Given the description of an element on the screen output the (x, y) to click on. 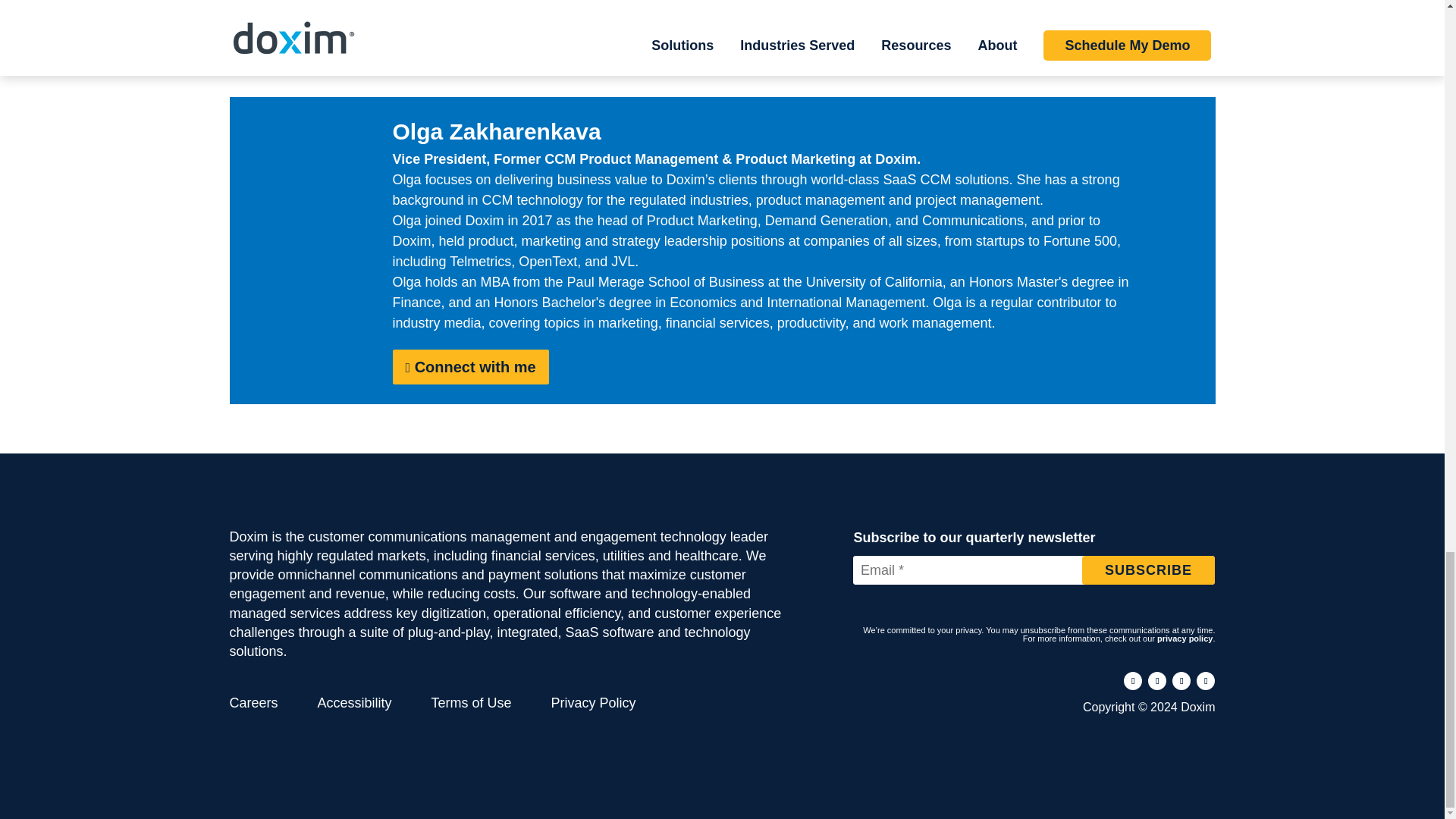
Follow on LinkedIn (1157, 680)
Follow on X (1181, 680)
Follow on Facebook (1132, 680)
Follow on Youtube (1205, 680)
